Given the description of an element on the screen output the (x, y) to click on. 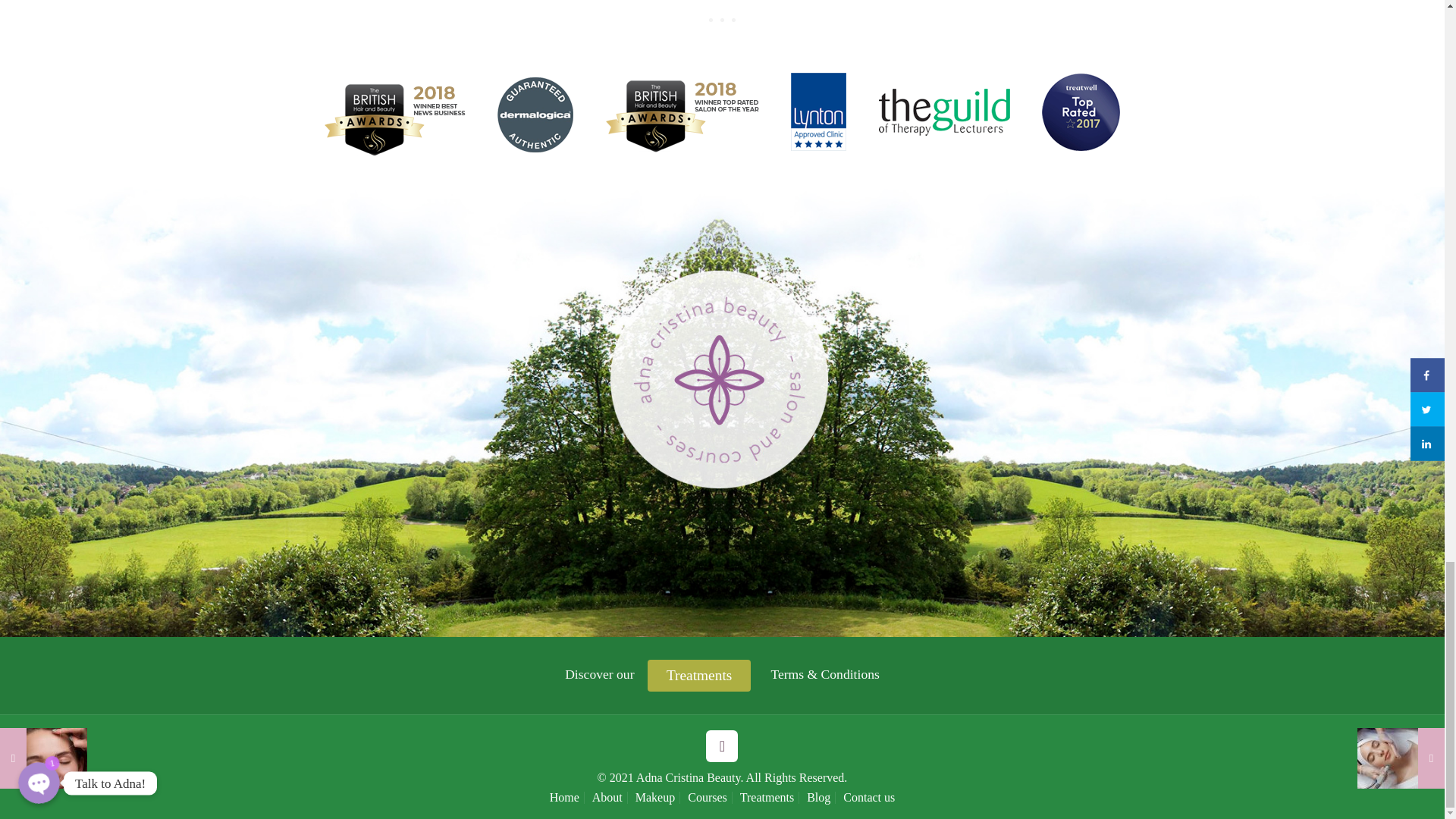
Courses (706, 797)
Treatments (766, 797)
Treatments (699, 675)
Blog (817, 797)
Makeup (654, 797)
About (607, 797)
Home (564, 797)
